Given the description of an element on the screen output the (x, y) to click on. 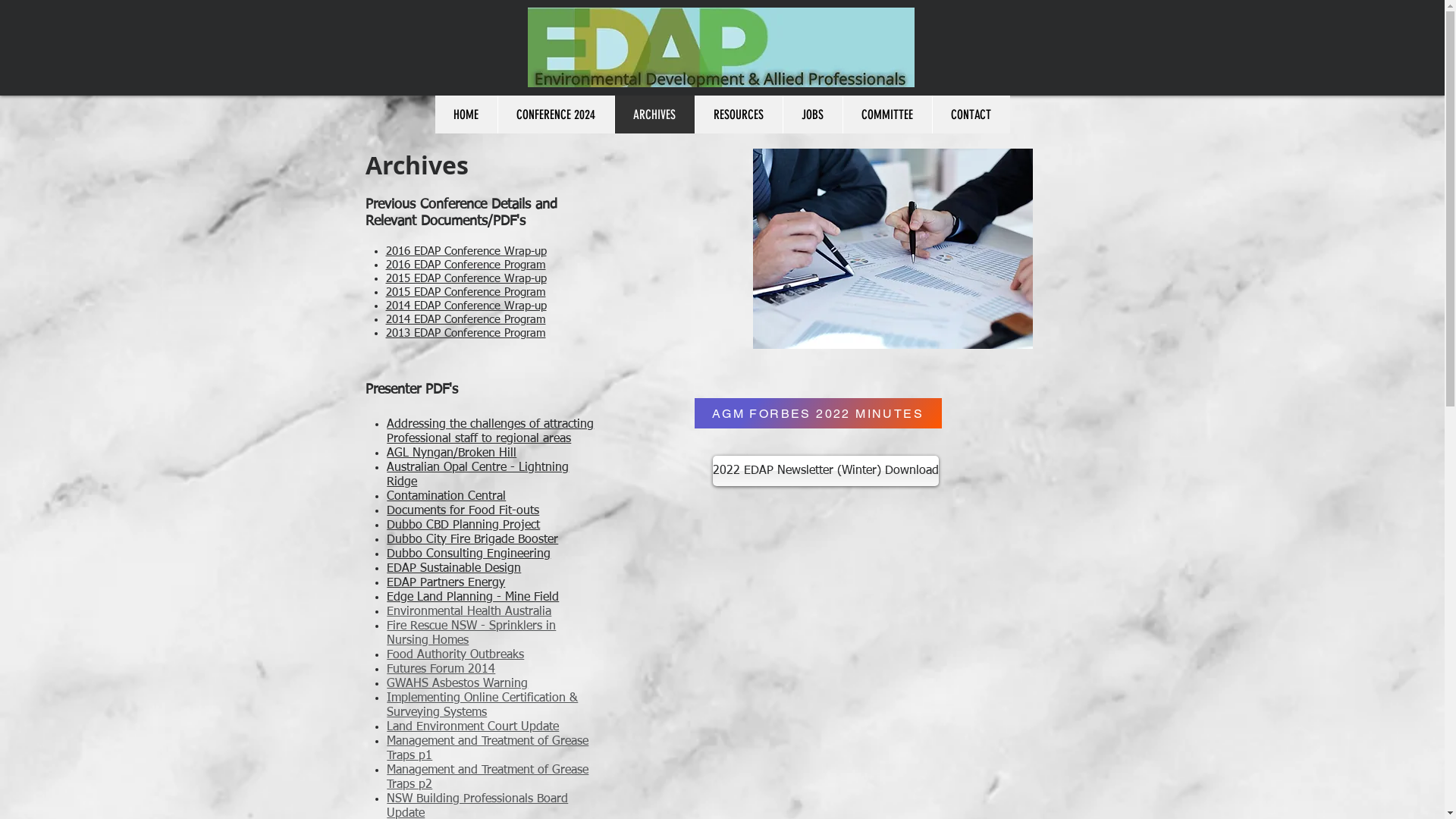
2014 EDAP Conference Program Element type: text (465, 319)
Dubbo Consulting Engineering Element type: text (468, 554)
AGL Nyngan/Broken Hill Element type: text (451, 453)
GWAHS Asbestos Warning Element type: text (456, 683)
Contamination Central Element type: text (445, 496)
2016 EDAP Conference Wrap-up Element type: text (465, 251)
Australian Opal Centre - Lightning Ridge Element type: text (477, 474)
Fire Rescue NSW - Sprinklers in Nursing Homes Element type: text (470, 633)
Management and Treatment of Grease Traps p2 Element type: text (487, 777)
CONFERENCE 2024 Element type: text (555, 114)
COMMITTEE Element type: text (886, 114)
Environmental Health Australia Element type: text (468, 611)
Management and Treatment of Grease Traps p1 Element type: text (487, 748)
Dubbo CBD Planning Project Element type: text (462, 525)
2014 EDAP Conference Wrap-up Element type: text (465, 305)
EDAP Sustainable Design Element type: text (453, 568)
RESOURCES Element type: text (738, 114)
Implementing Online Certification & Surveying Systems Element type: text (481, 705)
2015 EDAP Conference Wrap-up Element type: text (465, 278)
CONTACT Element type: text (970, 114)
Documents for Food Fit-outs Element type: text (462, 511)
JOBS Element type: text (812, 114)
EDAP Partners Energy Element type: text (445, 583)
Futures Forum 2014 Element type: text (440, 669)
HOME Element type: text (466, 114)
Food Authority Outbreaks Element type: text (455, 655)
2015 EDAP Conference Program Element type: text (465, 292)
ARCHIVES Element type: text (654, 114)
AGM FORBES 2022 MINUTES Element type: text (817, 413)
Dubbo City Fire Brigade Booster Element type: text (472, 539)
Land Environment Court Update Element type: text (472, 727)
Edge Land Planning - Mine Field Element type: text (472, 597)
2013 EDAP Conference Program Element type: text (465, 332)
2016 EDAP Conference Program Element type: text (465, 264)
2022 EDAP Newsletter (Winter) Download Element type: text (825, 470)
